Given the description of an element on the screen output the (x, y) to click on. 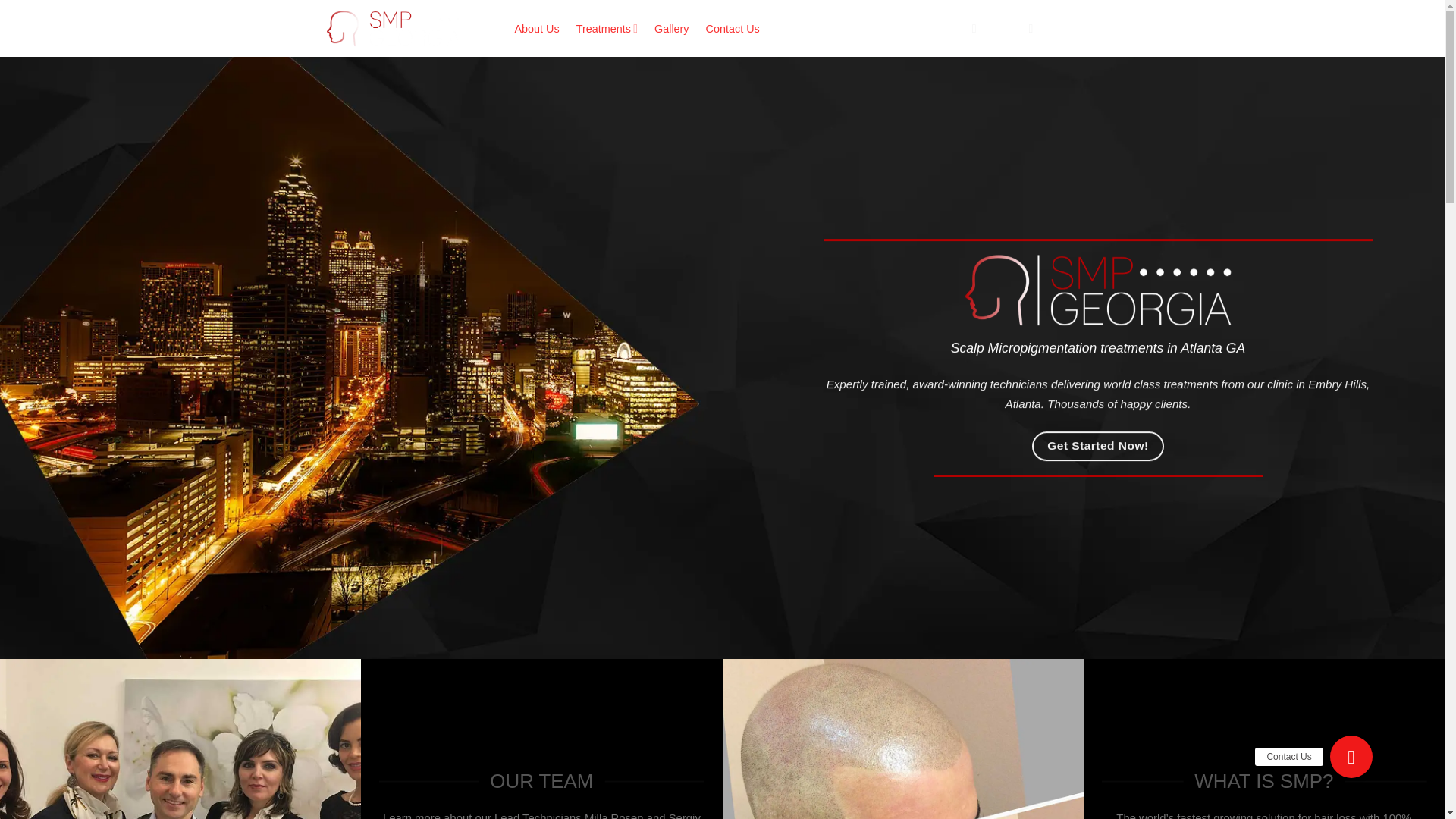
Treatments (606, 28)
Contact Us (733, 28)
EMAIL (991, 28)
SMP Georgia - Scalp Micropigmentation in Atlanta GA (408, 28)
Get Started Now! (1098, 446)
About Us (536, 28)
Gallery (670, 28)
